Given the description of an element on the screen output the (x, y) to click on. 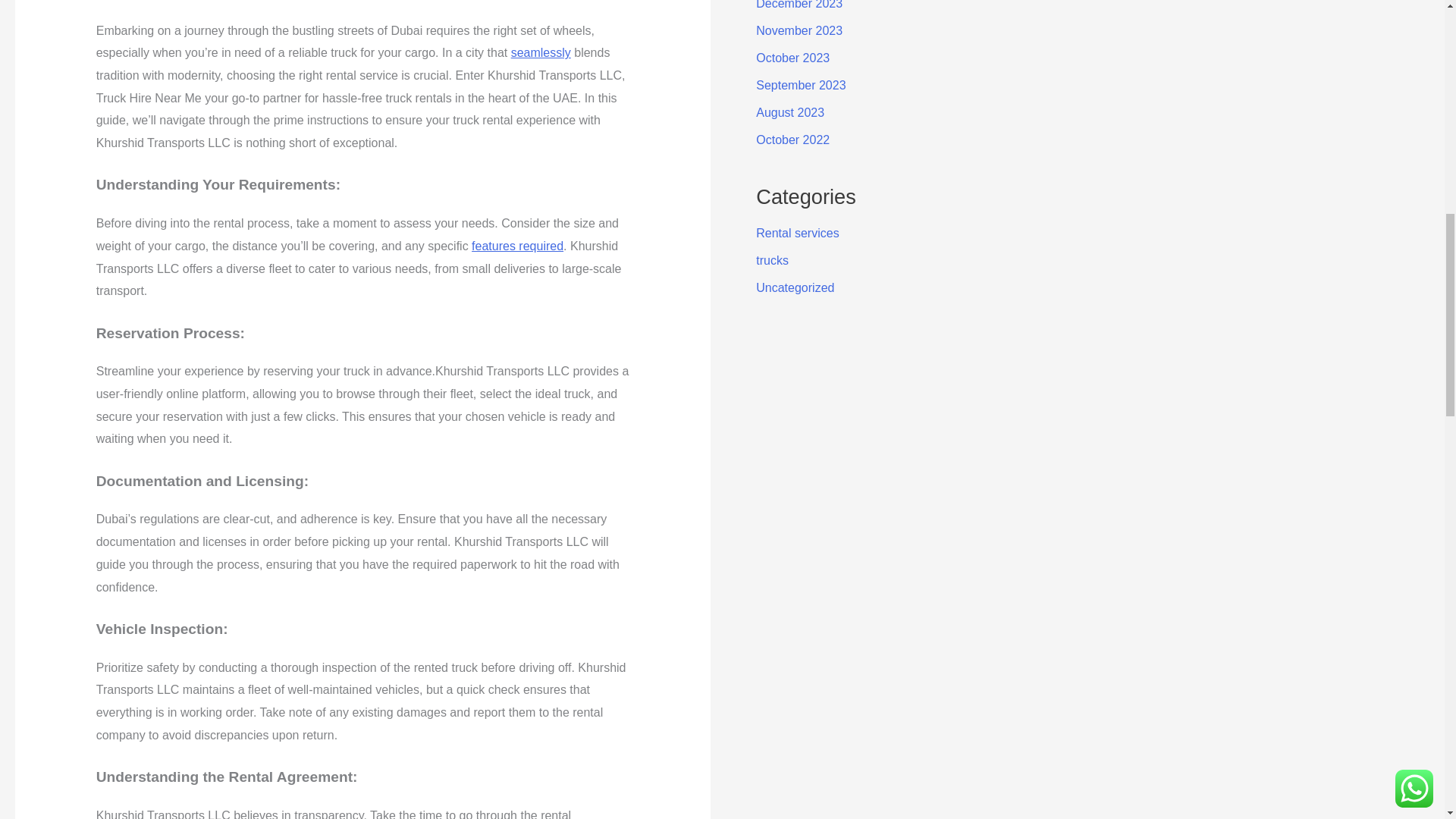
features required (517, 245)
seamlessly (540, 51)
December 2023 (799, 4)
